Given the description of an element on the screen output the (x, y) to click on. 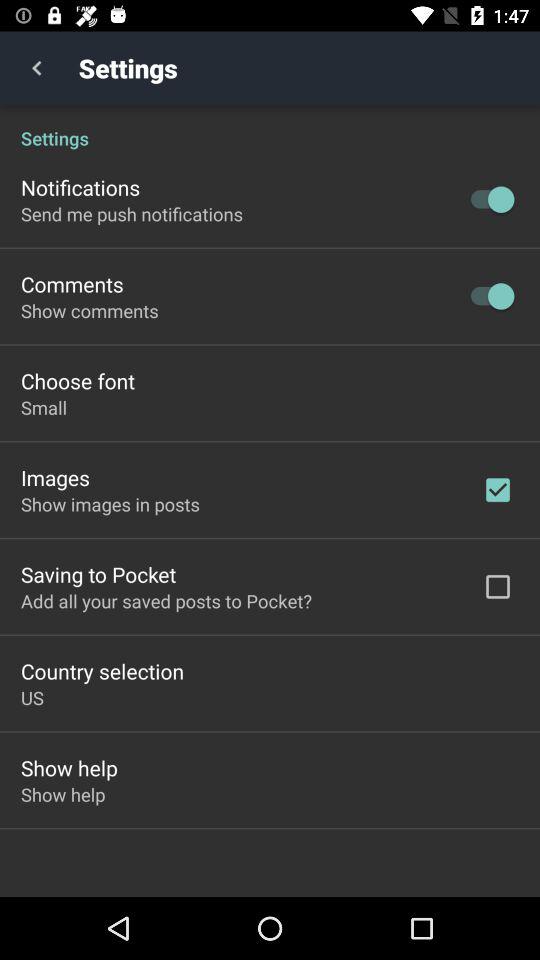
click the item above country selection (166, 600)
